Given the description of an element on the screen output the (x, y) to click on. 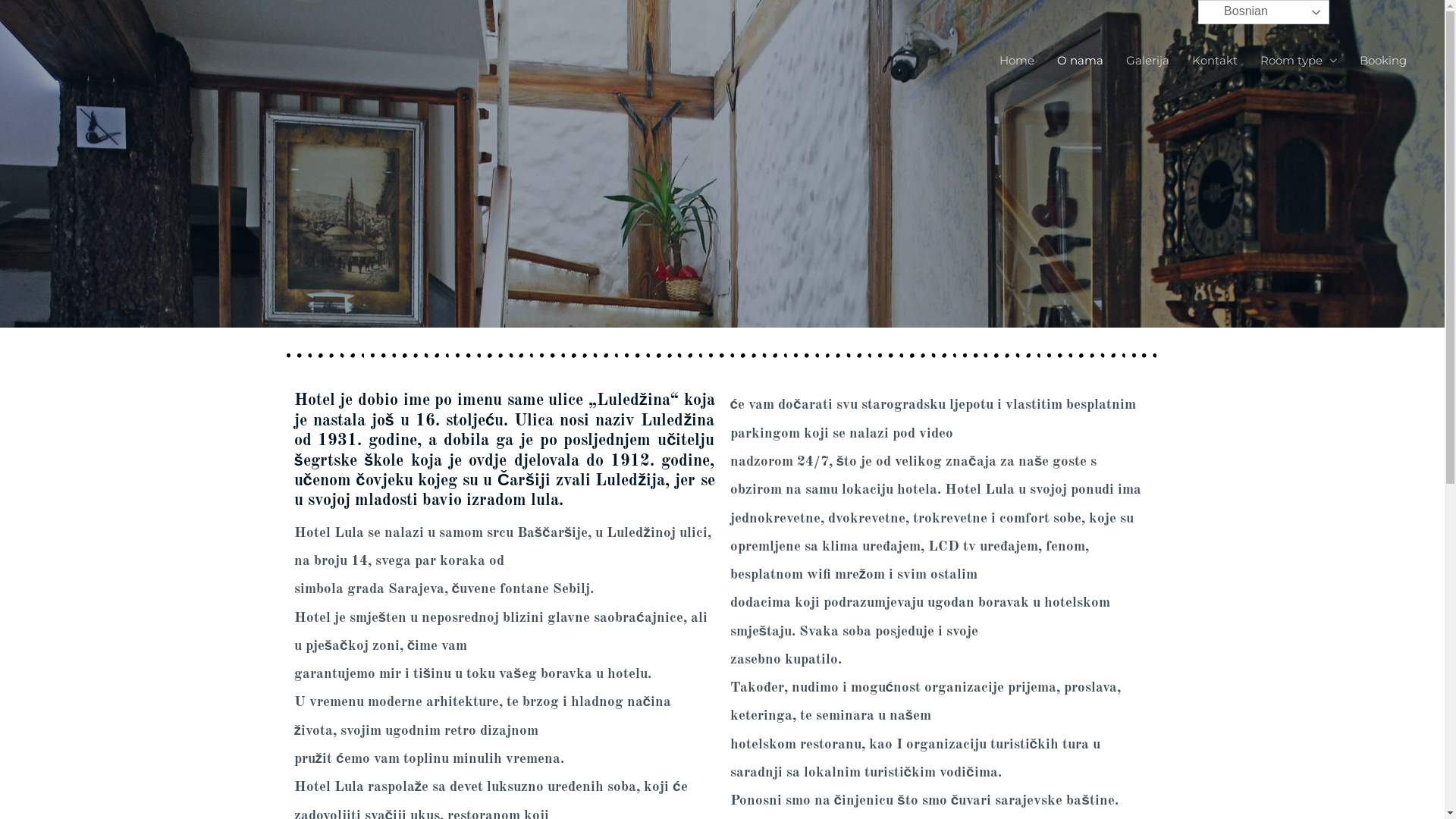
O nama Element type: text (1079, 60)
Bosnian Element type: text (1263, 12)
Home Element type: text (1016, 60)
Booking Element type: text (1383, 60)
Kontakt Element type: text (1214, 60)
Galerija Element type: text (1147, 60)
Room type Element type: text (1298, 60)
